Given the description of an element on the screen output the (x, y) to click on. 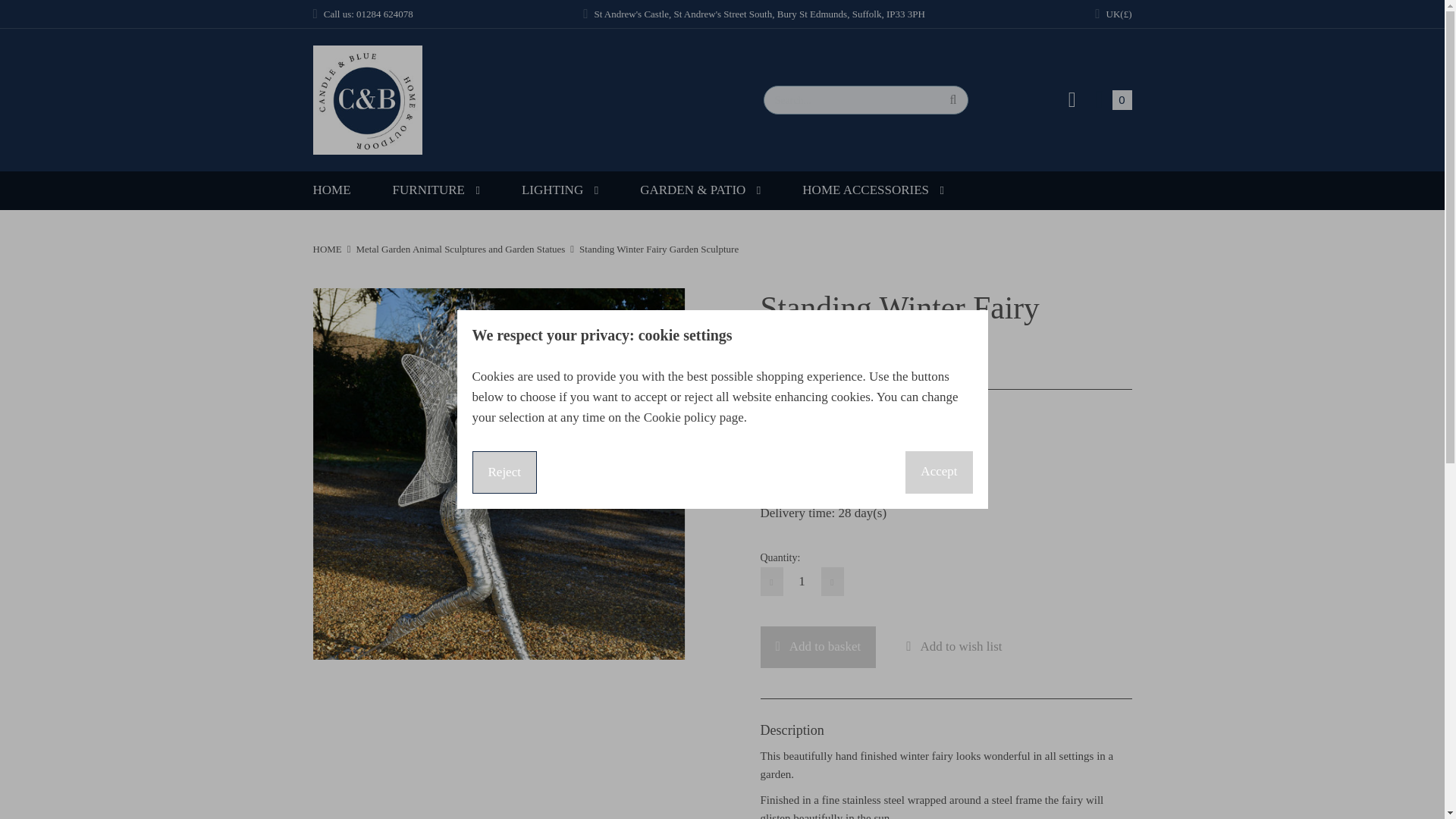
1 (802, 581)
FURNITURE (436, 189)
Candle and Blue (367, 99)
HOME ACCESSORIES (1112, 99)
HOME (872, 189)
LIGHTING (331, 189)
